Given the description of an element on the screen output the (x, y) to click on. 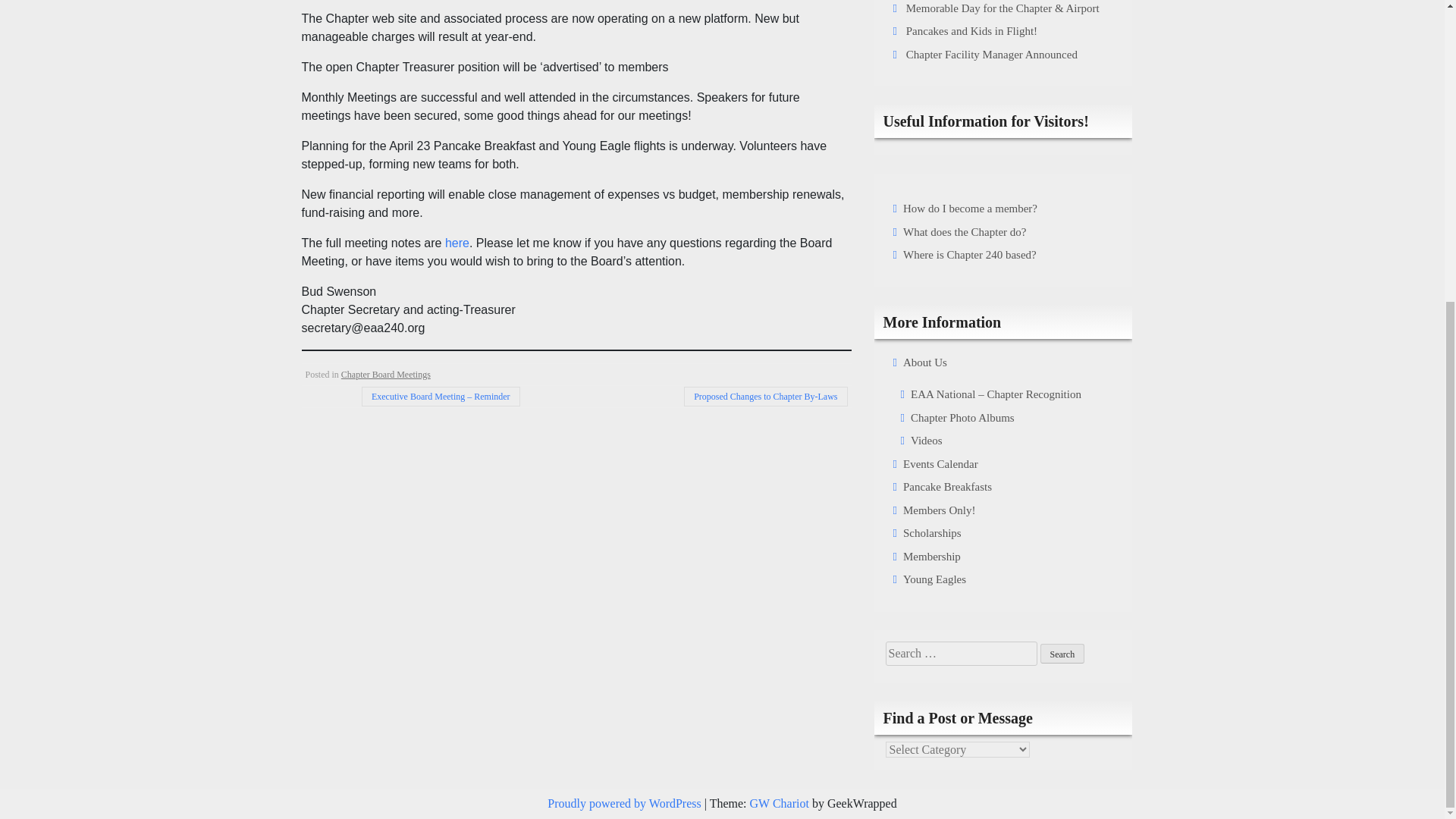
Chapter Board Meetings (385, 374)
Search (1062, 653)
Search (1062, 653)
here (456, 242)
Proposed Changes to Chapter By-Laws (765, 396)
